Given the description of an element on the screen output the (x, y) to click on. 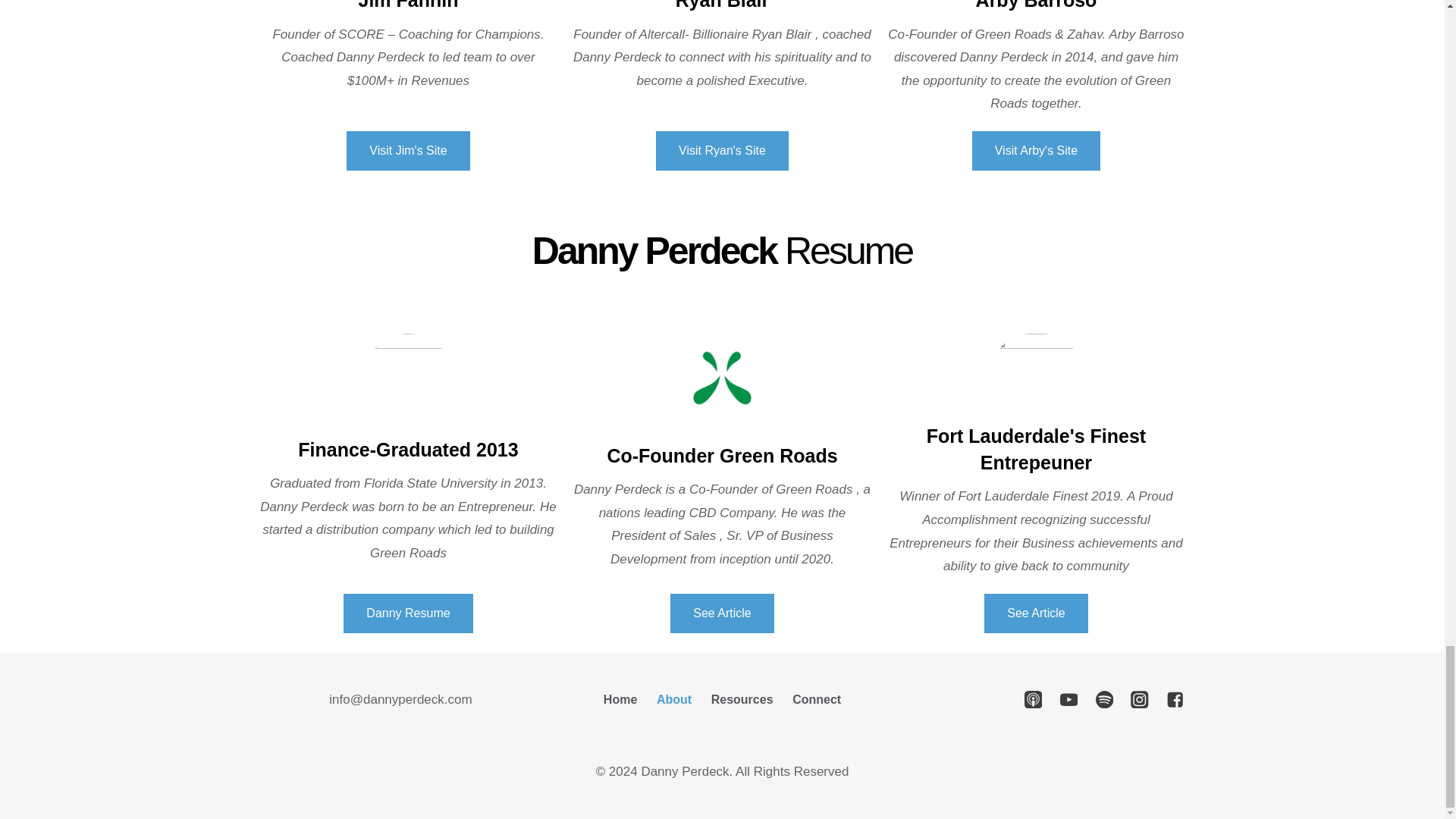
Home (620, 699)
Danny Resume (407, 613)
See Article (721, 613)
Visit Arby'S Site (1036, 150)
Visit Jim'S Site (407, 150)
See Article (1035, 613)
Visit Ryan'S Site (722, 150)
About (673, 699)
